Given the description of an element on the screen output the (x, y) to click on. 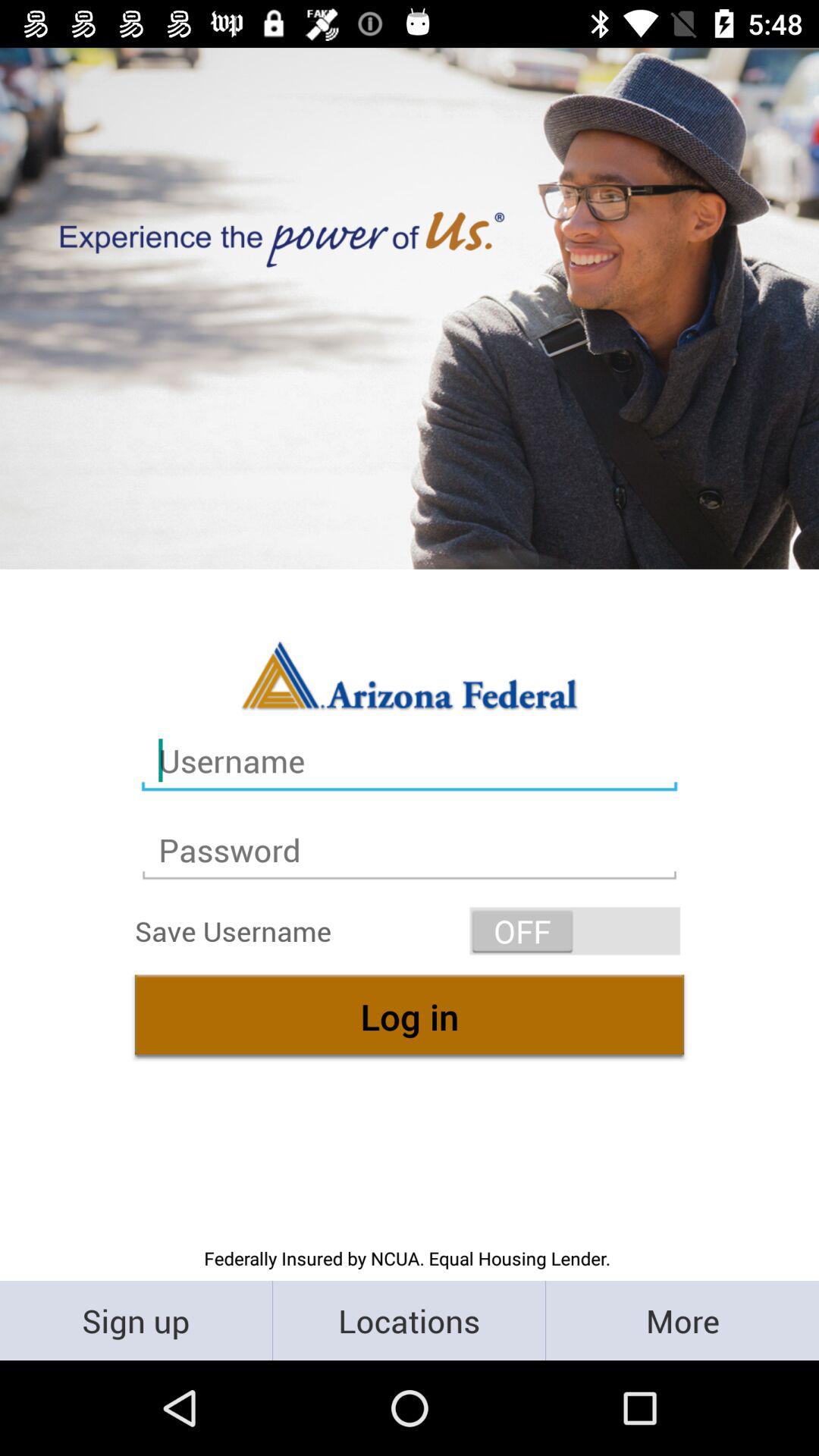
select log in icon (409, 1016)
